Given the description of an element on the screen output the (x, y) to click on. 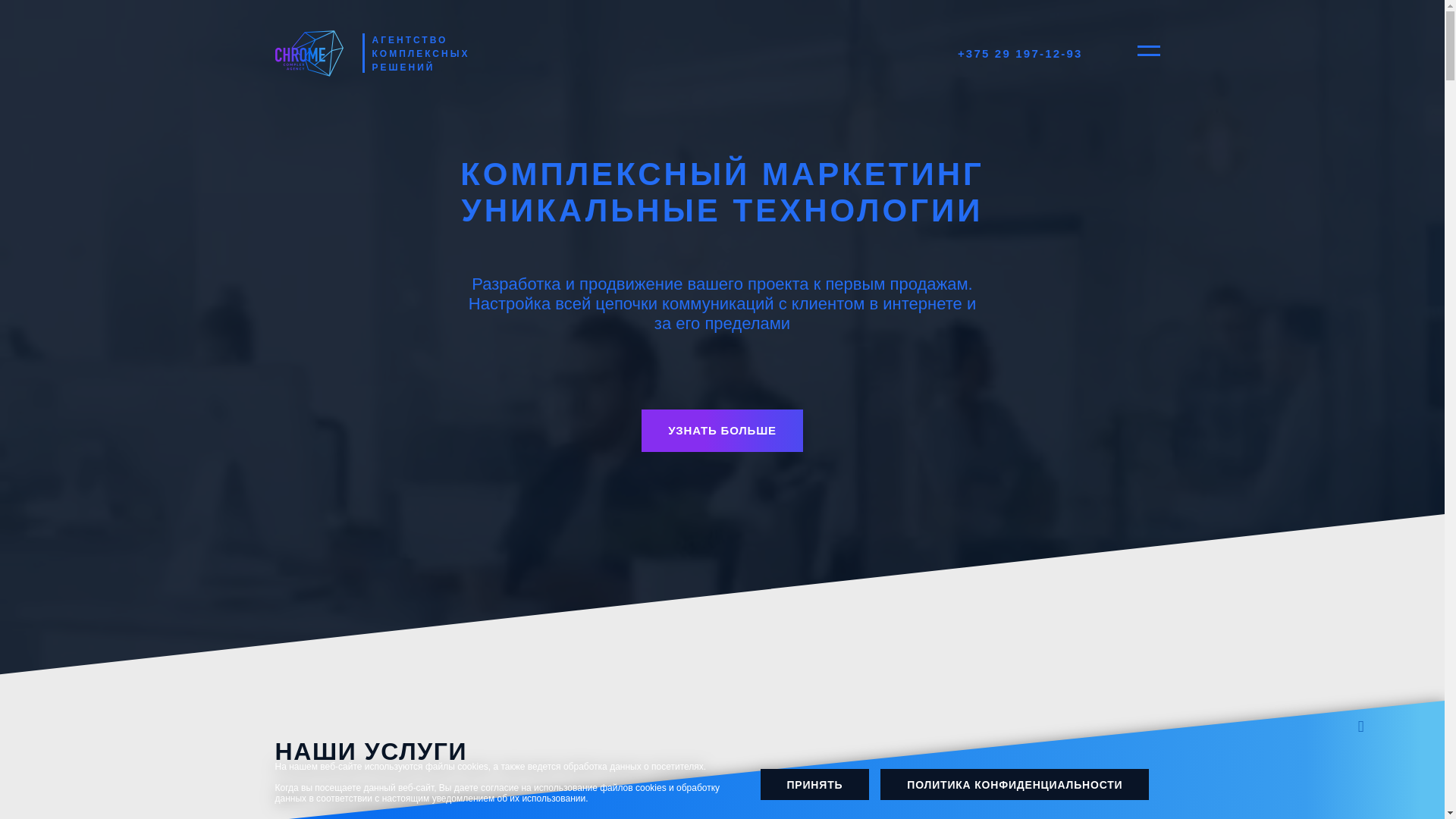
+375 29 197-12-93 Element type: text (1019, 53)
